Given the description of an element on the screen output the (x, y) to click on. 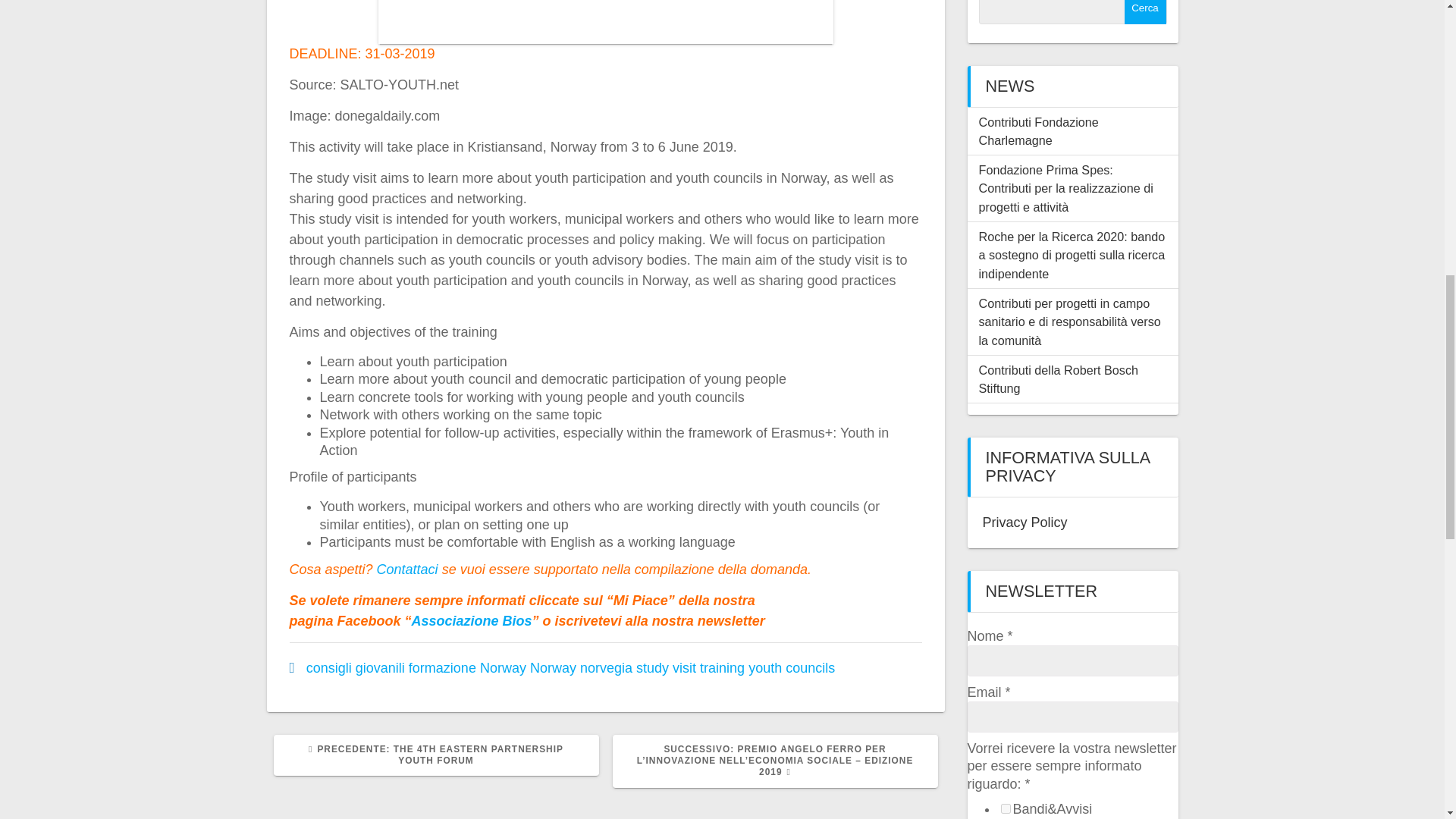
formazione (442, 667)
Associazione Bios (472, 620)
Norway (502, 667)
Cerca (1145, 12)
study visit (665, 667)
Contattaci (407, 568)
Norway norvegia (580, 667)
Privacy Policy  (1024, 522)
consigli giovanili (354, 667)
training (722, 667)
